Given the description of an element on the screen output the (x, y) to click on. 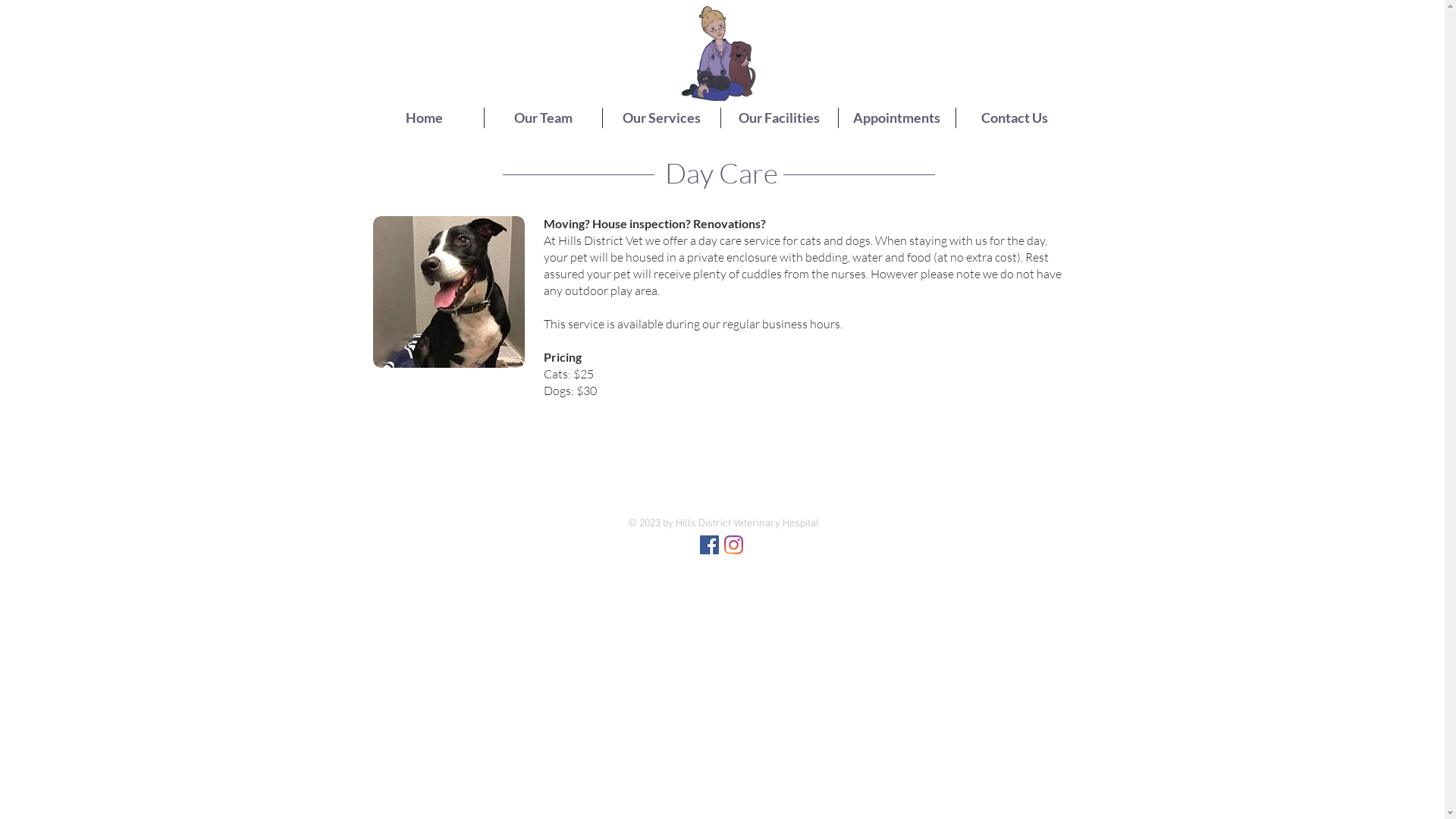
Home Element type: text (424, 117)
Our Services Element type: text (660, 117)
Our Facilities Element type: text (778, 117)
Our Team Element type: text (542, 117)
Contact Us Element type: text (1013, 117)
LOGO.gif Element type: hover (717, 52)
Appointments Element type: text (896, 117)
